Given the description of an element on the screen output the (x, y) to click on. 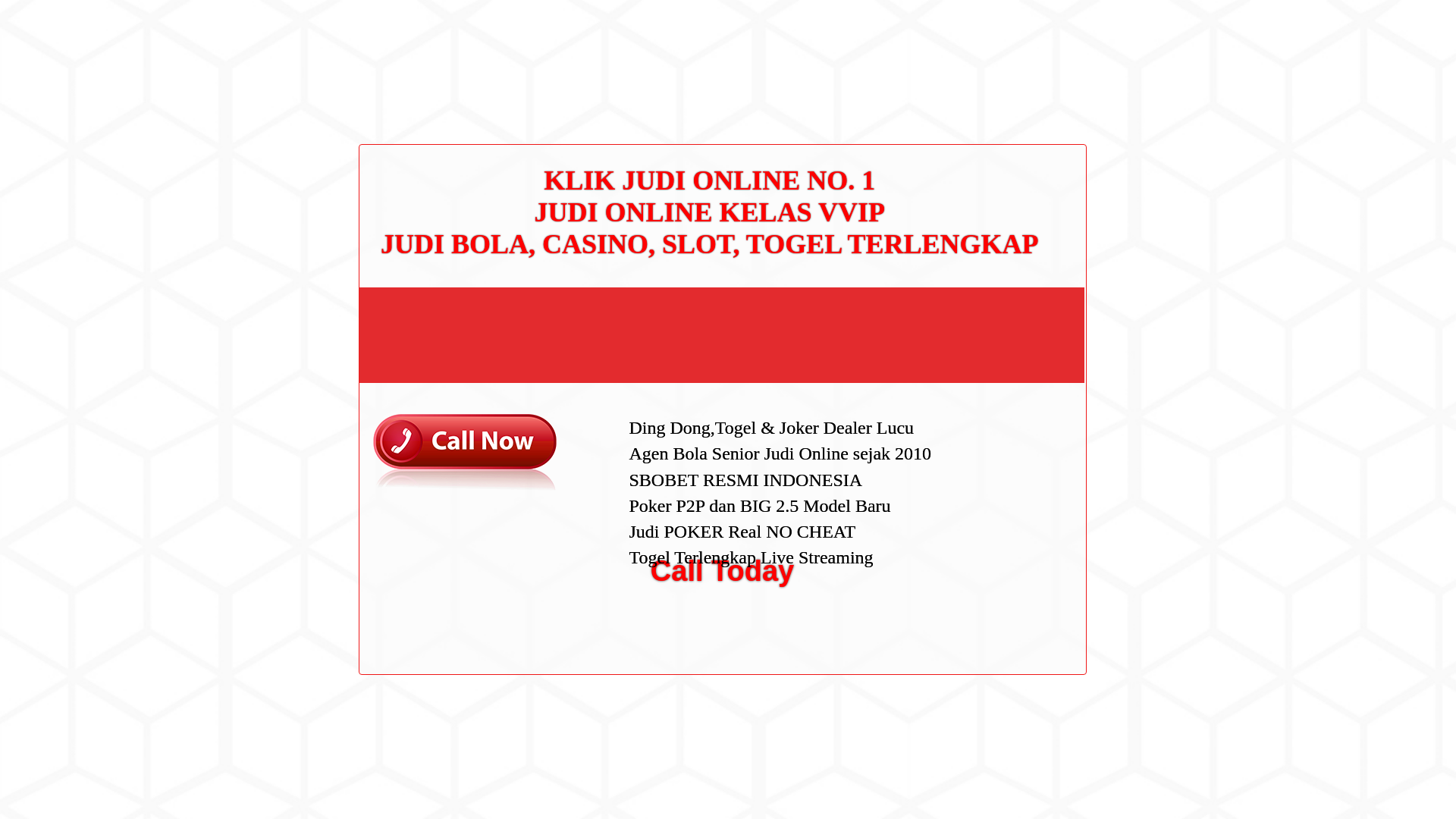
August 2020 (996, 432)
RSS (977, 612)
Search (1050, 85)
KANONSPORTS.COM (403, 28)
Contact Us (991, 258)
Search for: (1049, 47)
Log in (980, 588)
Privacy Policy (999, 306)
Search (1050, 85)
Skip to content (34, 9)
Disclaimer (990, 354)
Search (1050, 85)
Blog (976, 510)
Terms of Use (996, 330)
Latest Article (996, 172)
